Given the description of an element on the screen output the (x, y) to click on. 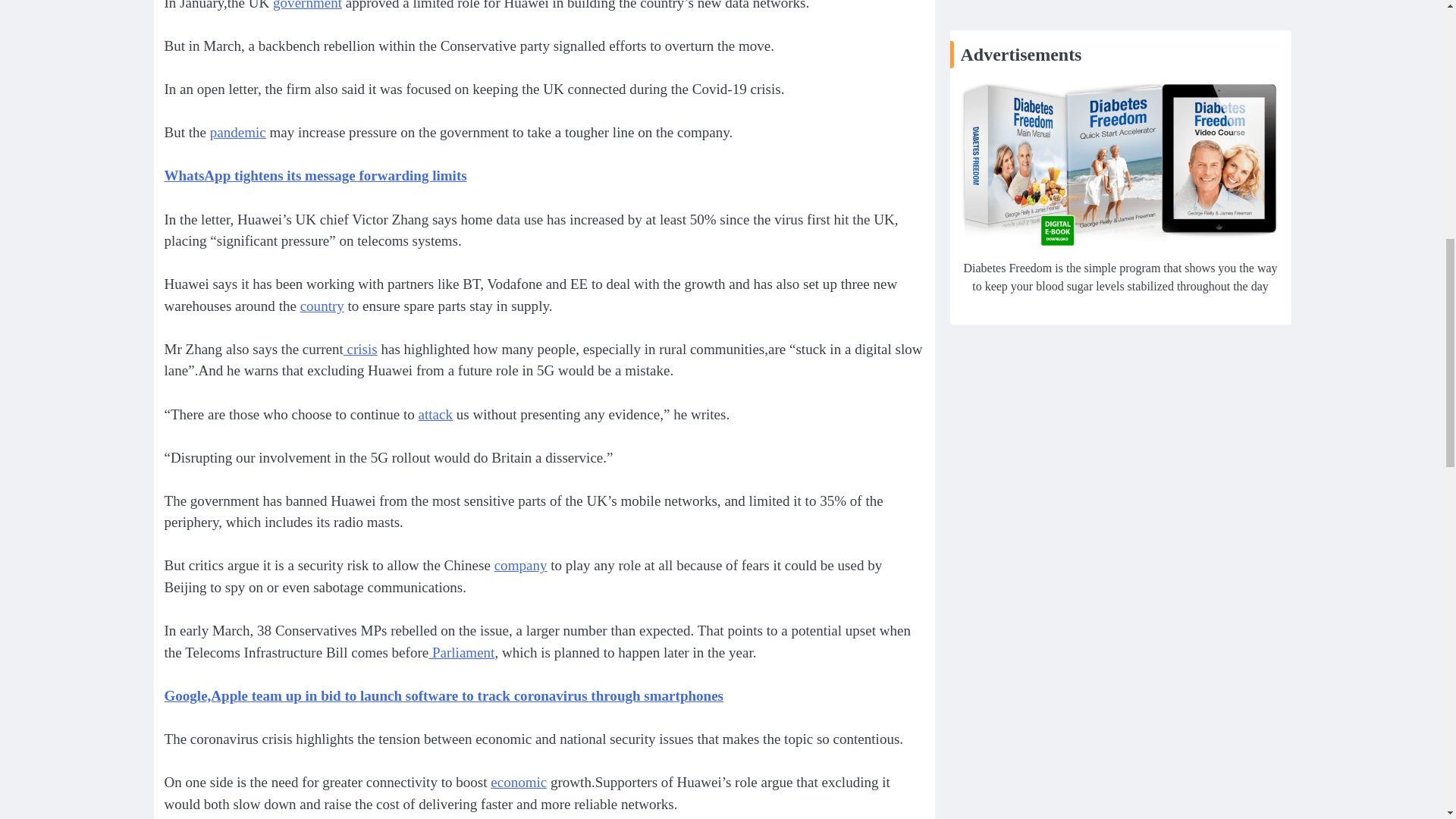
company (521, 565)
government (307, 5)
attack (435, 414)
Parliament (461, 652)
crisis (360, 349)
economic (518, 781)
WhatsApp tightens its message forwarding limits (314, 175)
pandemic (237, 132)
country (321, 305)
